Given the description of an element on the screen output the (x, y) to click on. 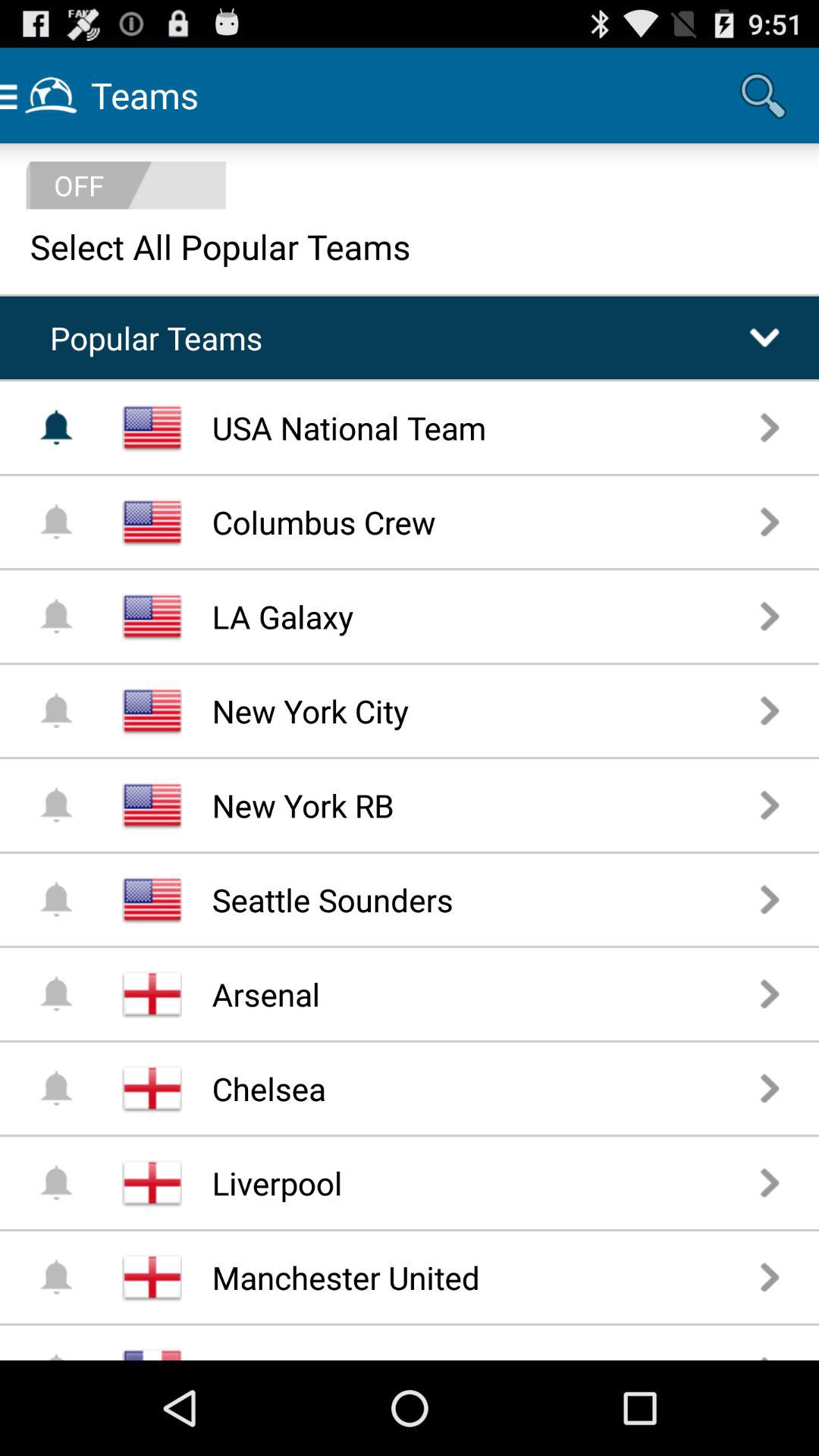
click on forward arrow icon right to columbus crew (769, 520)
click on the fourth arrow option which is beside the text network city (769, 710)
click the next arrow button (769, 1276)
click the drop down arrow button (764, 338)
